Given the description of an element on the screen output the (x, y) to click on. 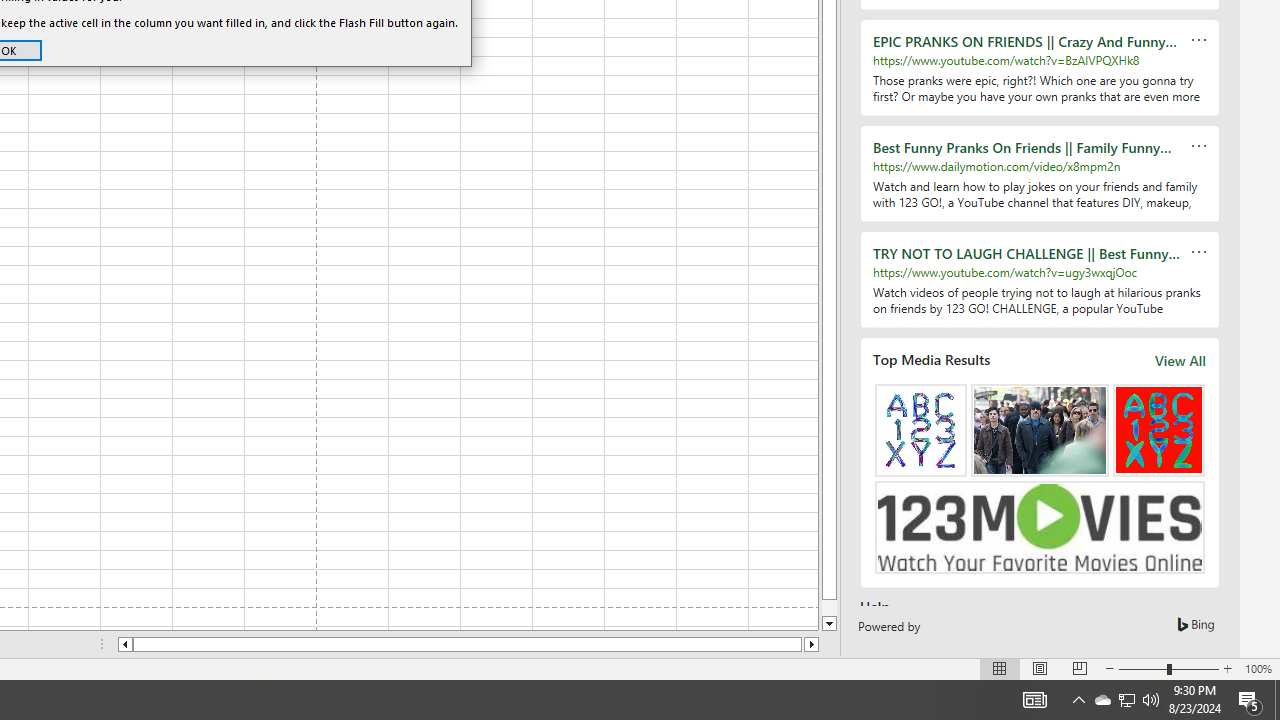
Q2790: 100% (1151, 699)
AutomationID: 4105 (1034, 699)
Notification Chevron (1126, 699)
Action Center, 5 new notifications (1078, 699)
User Promoted Notification Area (1250, 699)
Show desktop (1126, 699)
